Given the description of an element on the screen output the (x, y) to click on. 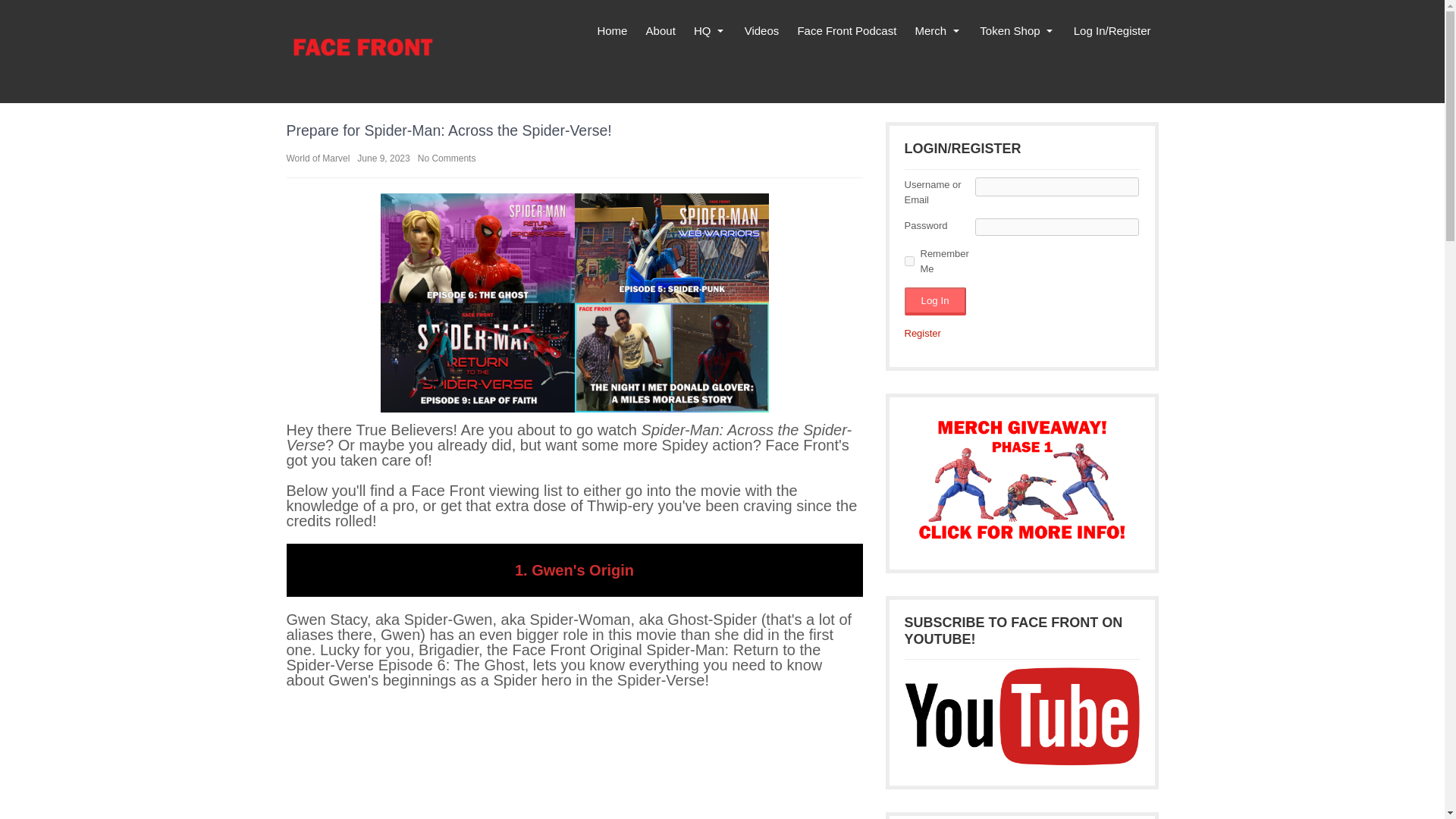
Token Shop (1017, 31)
Subscribe to Face Front on YouTube! (1021, 716)
Face Front Podcast (846, 31)
forever (909, 261)
World of Marvel (318, 158)
Spider-Man: Return to the Spider-Verse Episode 6: The Ghost (574, 760)
No Comments (446, 158)
Merch (938, 31)
Log In (934, 301)
